Given the description of an element on the screen output the (x, y) to click on. 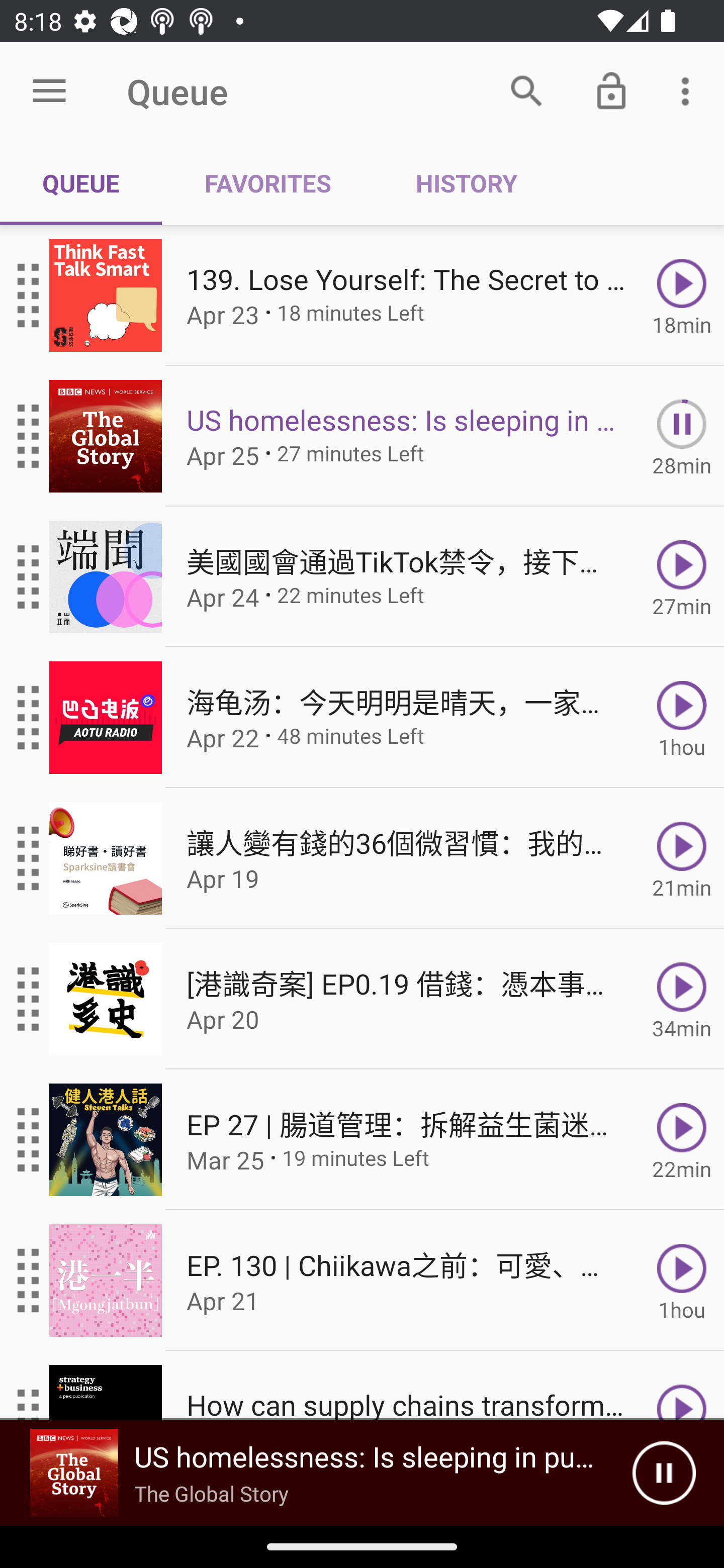
Open menu (49, 91)
Search (526, 90)
Lock Queue (611, 90)
More options (688, 90)
QUEUE (81, 183)
FAVORITES (267, 183)
HISTORY (465, 183)
Play 18min (681, 295)
Play 28min (681, 435)
Play 27min (681, 576)
Play 1hou (681, 717)
Play 21min (681, 858)
Play 34min (681, 998)
Play 22min (681, 1139)
Play 1hou (681, 1280)
Play (681, 1385)
Pause (663, 1472)
